Given the description of an element on the screen output the (x, y) to click on. 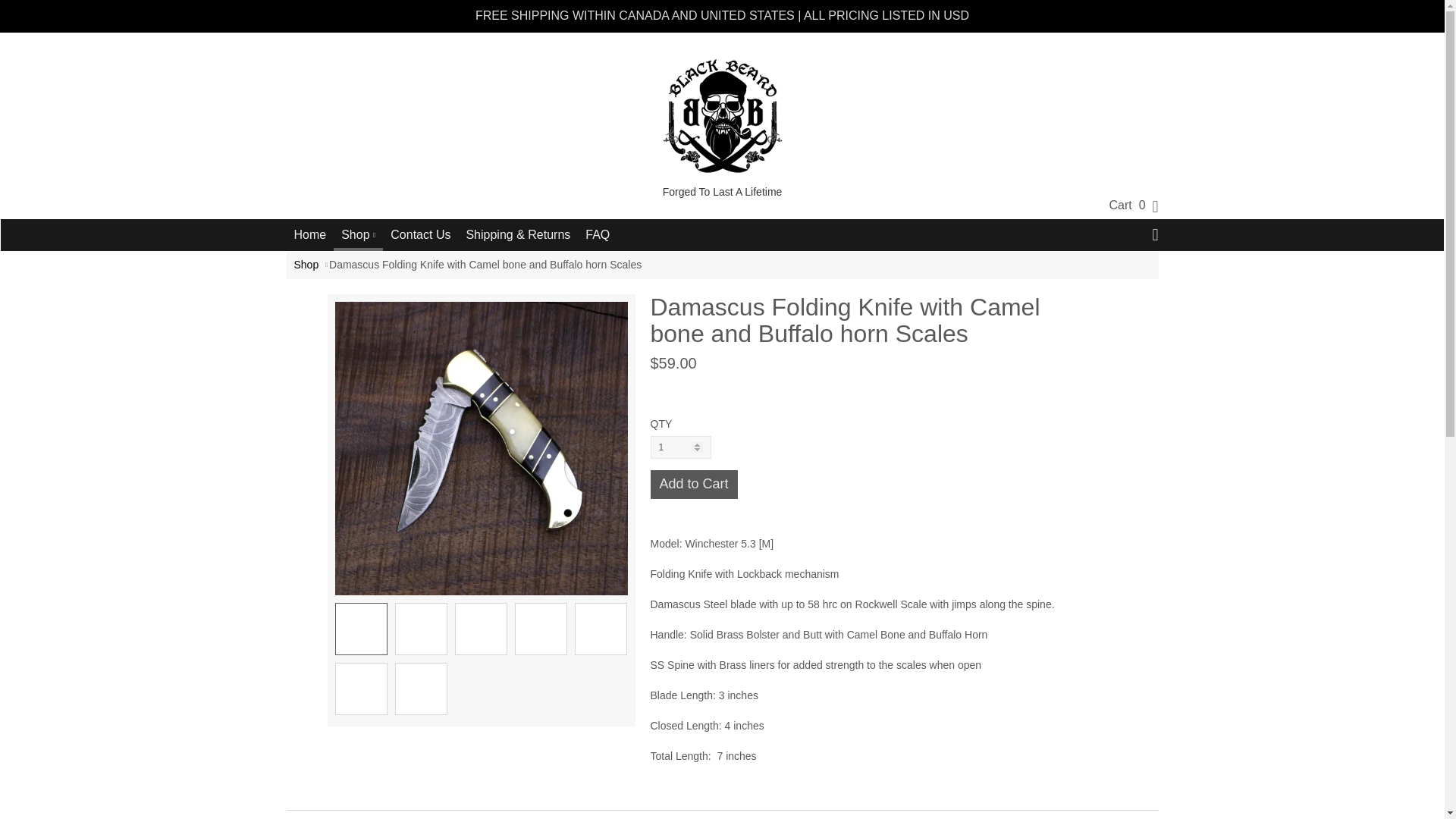
Home (310, 234)
Add to Cart (694, 484)
1 (680, 446)
Shop (357, 233)
FAQ (597, 234)
Cart  0   (1126, 205)
Shop (306, 264)
Contact Us (420, 234)
Add to Cart (694, 484)
